Given the description of an element on the screen output the (x, y) to click on. 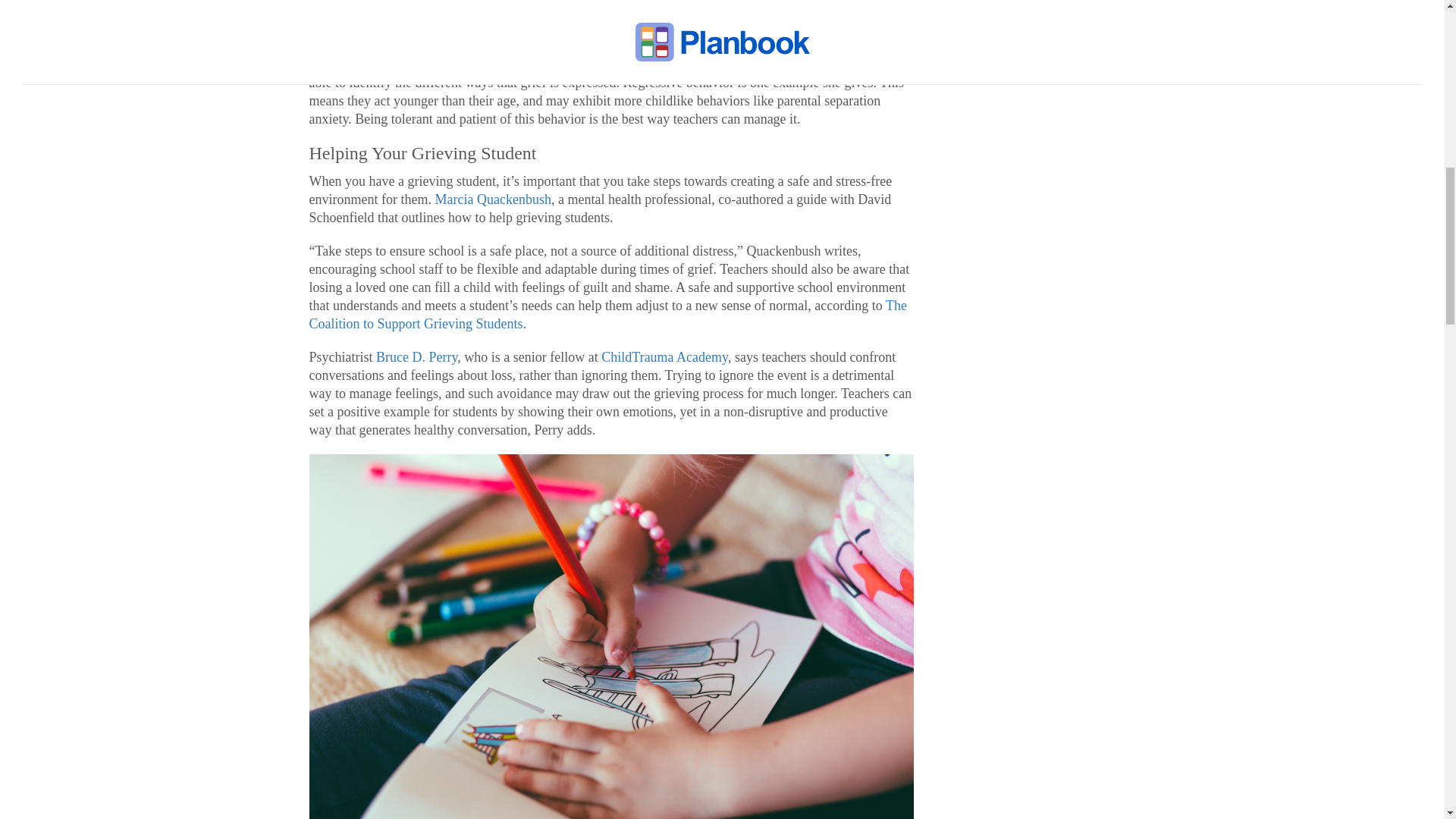
Marcia Quackenbush (491, 199)
Kit Richert (338, 64)
ChildTrauma Academy (664, 356)
Bruce D. Perry (416, 356)
The Coalition to Support Grieving Students (607, 314)
